Given the description of an element on the screen output the (x, y) to click on. 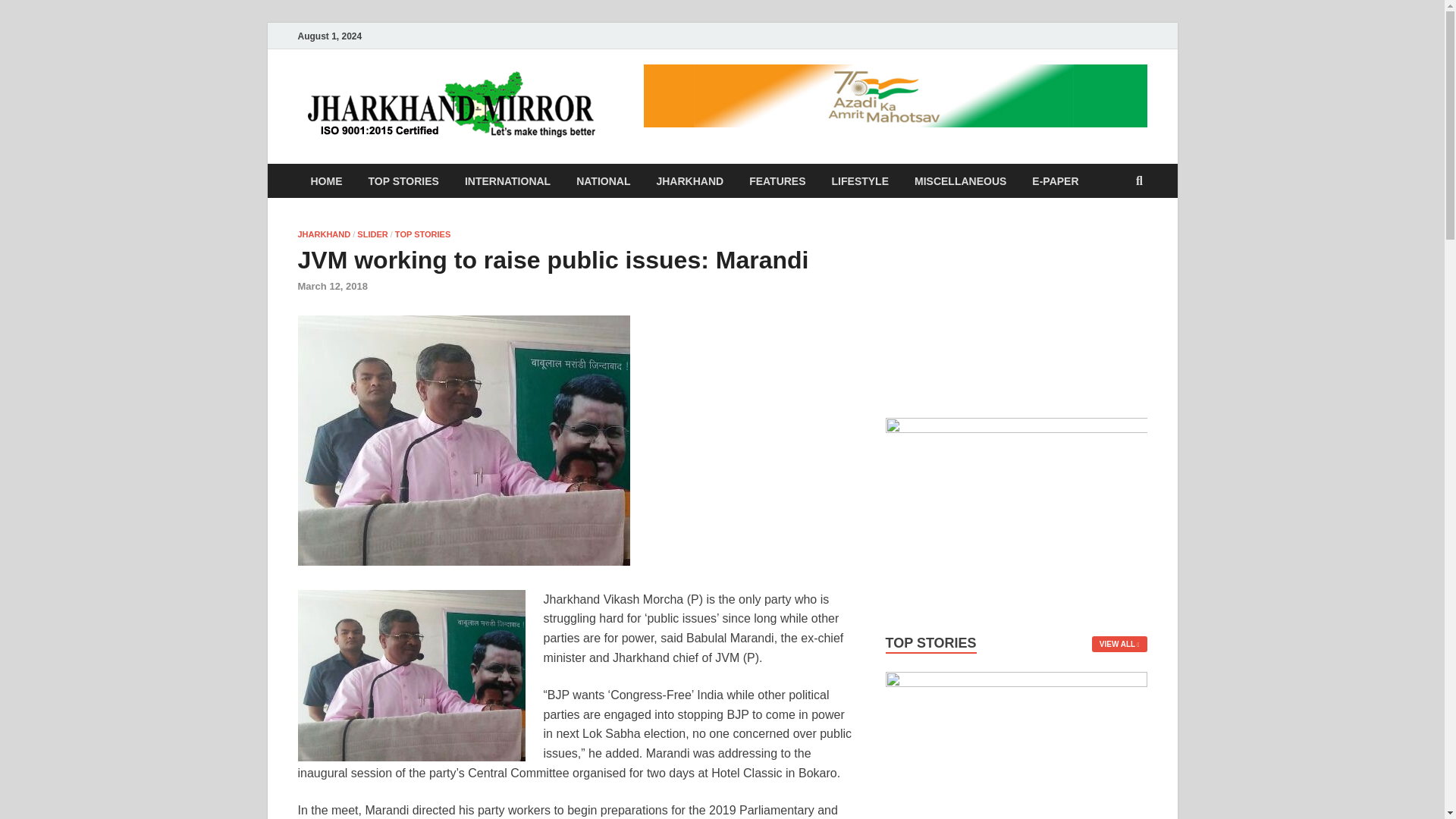
VIEW ALL (1119, 643)
LIFESTYLE (859, 180)
MISCELLANEOUS (960, 180)
SLIDER (371, 234)
INTERNATIONAL (507, 180)
JHARKHAND (689, 180)
NATIONAL (603, 180)
FEATURES (777, 180)
TOP STORIES (421, 234)
HOME (326, 180)
Chandrayaan-3 Mission Soft-landing LIVE Telecast (1016, 301)
TOP STORIES (403, 180)
Jharkhand Mirror (723, 100)
March 12, 2018 (332, 285)
E-PAPER (1054, 180)
